Given the description of an element on the screen output the (x, y) to click on. 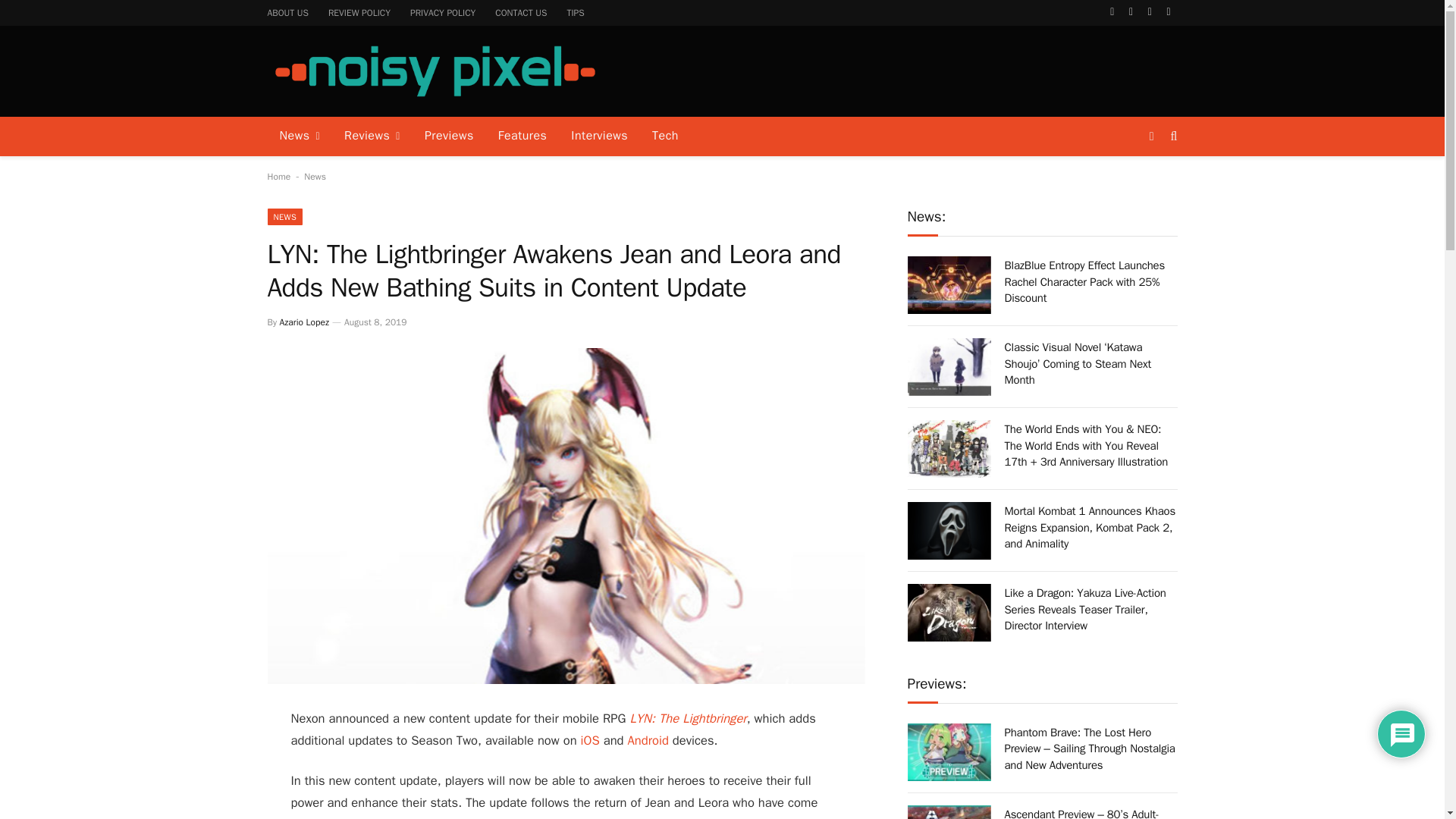
Tech (665, 136)
Noisy Pixel (434, 71)
TIPS (575, 12)
Home (277, 176)
Reviews (371, 136)
Interviews (599, 136)
NEWS (284, 216)
Switch to Dark Design - easier on eyes. (1151, 136)
Azario Lopez (304, 322)
Previews (449, 136)
News (315, 176)
Posts by Azario Lopez (304, 322)
ABOUT US (287, 12)
REVIEW POLICY (359, 12)
